Given the description of an element on the screen output the (x, y) to click on. 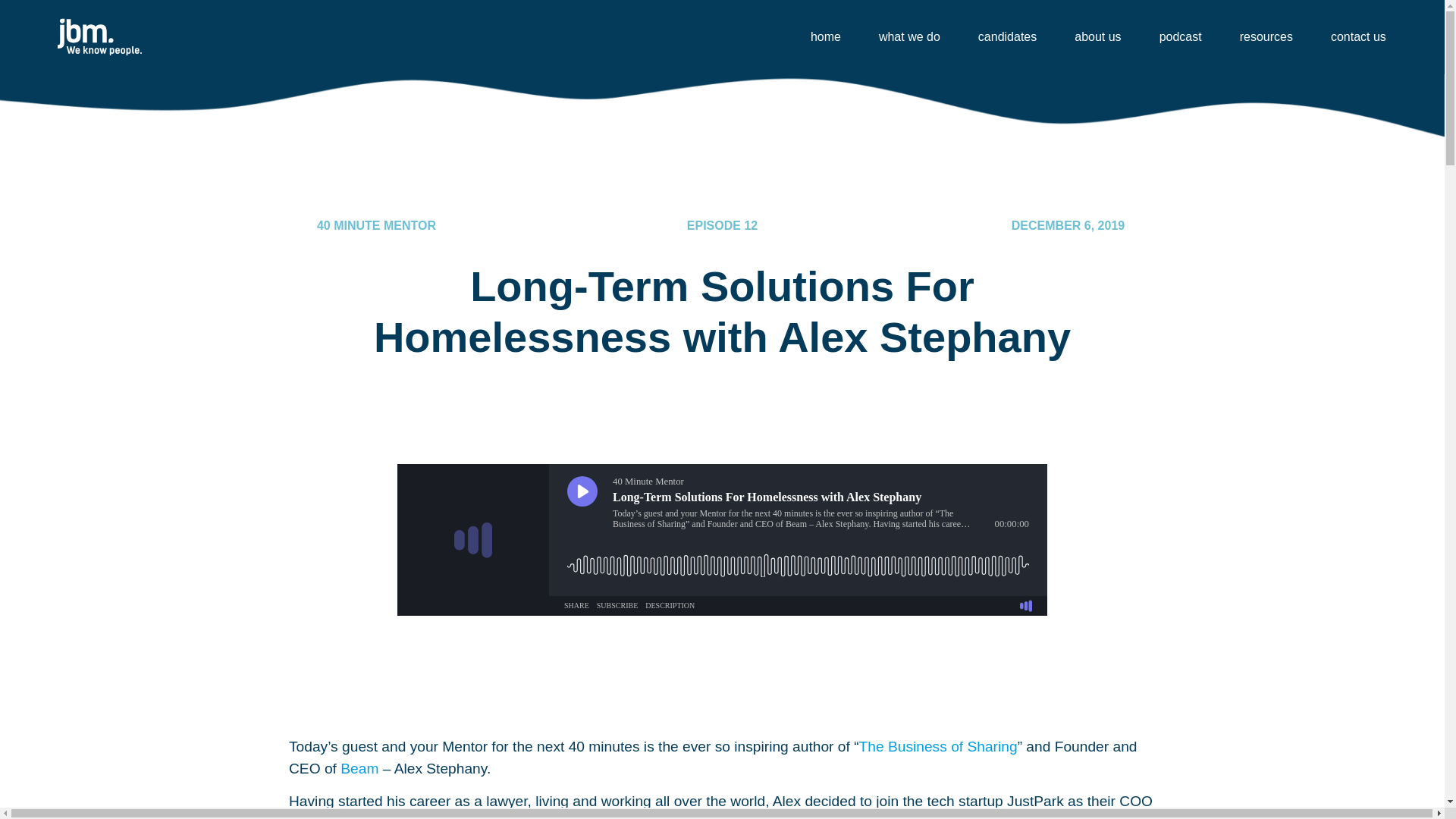
podcast (1180, 36)
Beam (359, 768)
contact us (1358, 36)
resources (1265, 36)
The Business of Sharing (938, 746)
home (825, 36)
about us (1097, 36)
what we do (909, 36)
candidates (1006, 36)
